Given the description of an element on the screen output the (x, y) to click on. 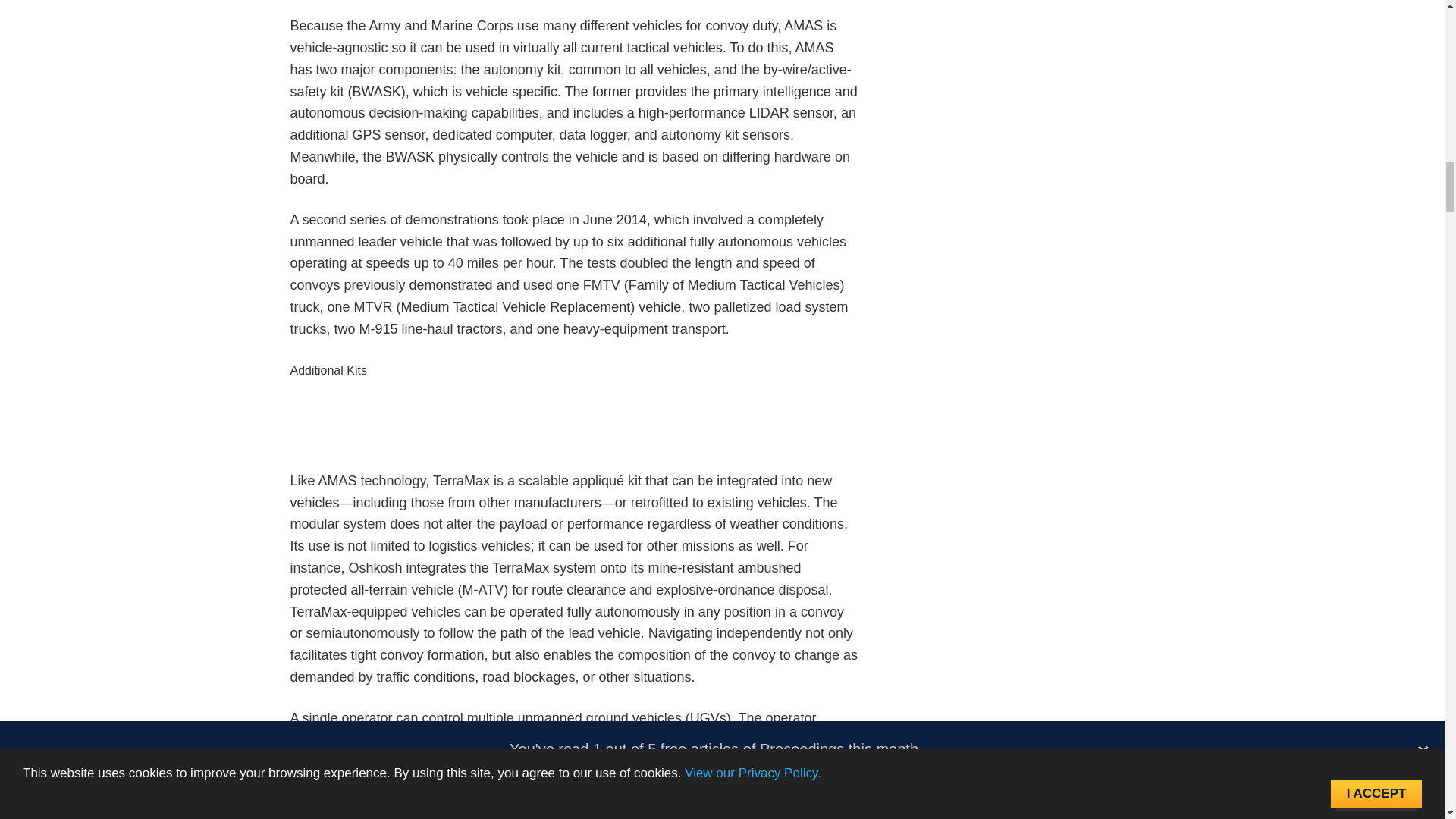
3rd party ad content (574, 434)
